Given the description of an element on the screen output the (x, y) to click on. 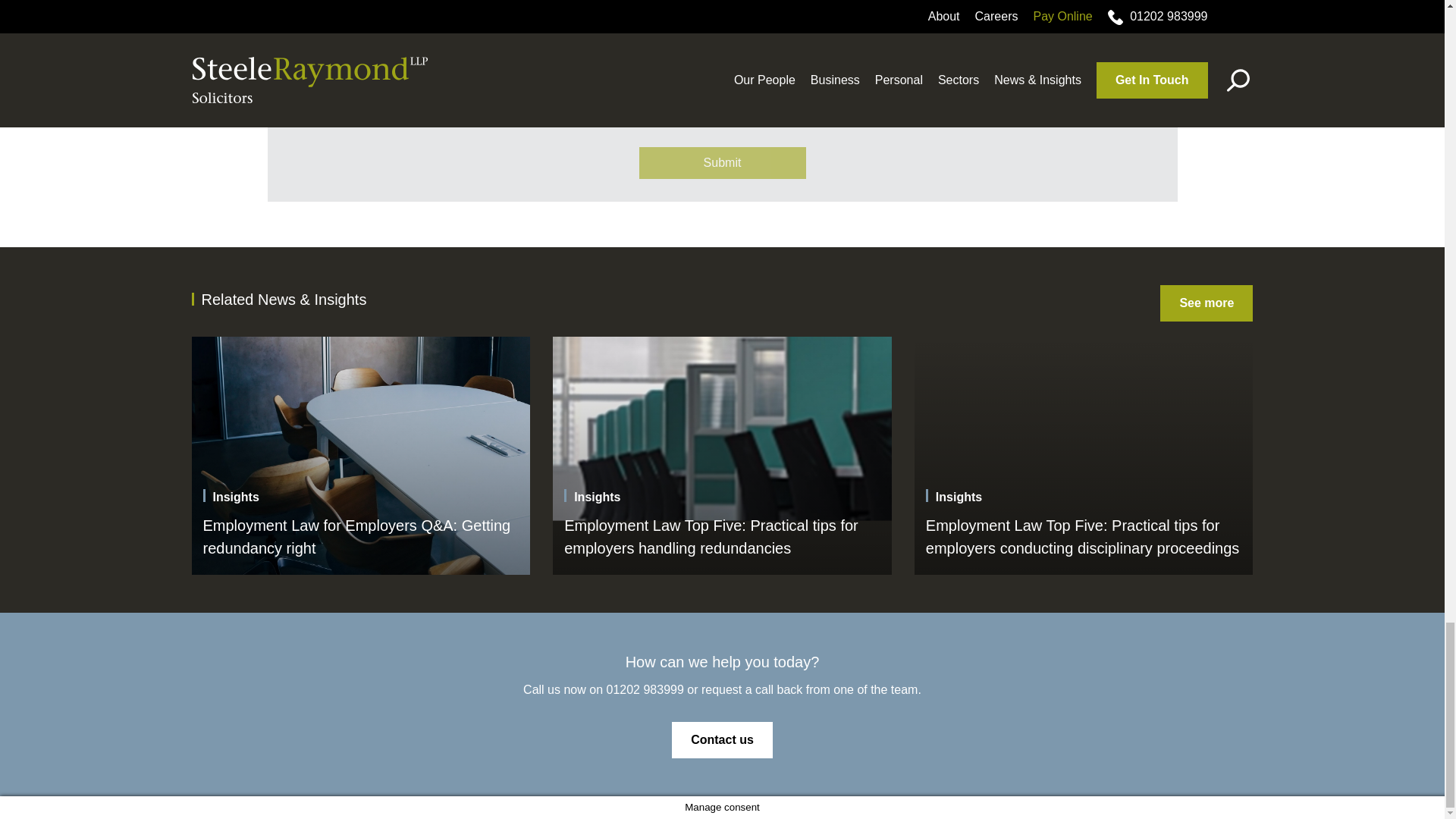
1 (361, 105)
1 (361, 57)
Submit (722, 163)
Contact us (722, 739)
